Given the description of an element on the screen output the (x, y) to click on. 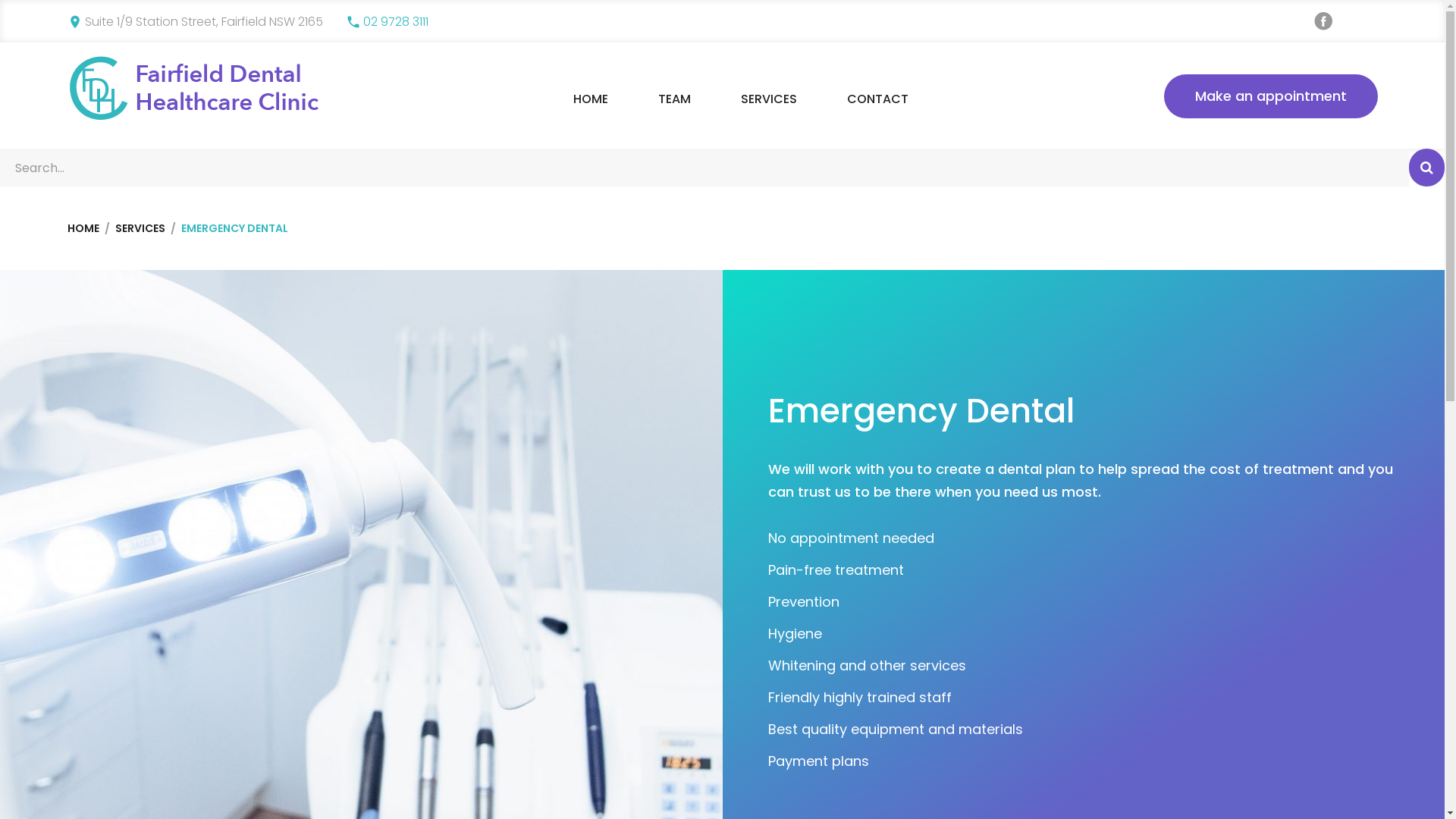
SERVICES Element type: text (140, 227)
02 9728 3111 Element type: text (395, 21)
CONTACT Element type: text (877, 99)
TEAM Element type: text (674, 99)
SERVICES Element type: text (768, 99)
HOME Element type: text (82, 227)
Skip to content Element type: text (0, 0)
Facebook Element type: text (1322, 20)
Make an appointment Element type: text (1270, 96)
HOME Element type: text (590, 99)
